Given the description of an element on the screen output the (x, y) to click on. 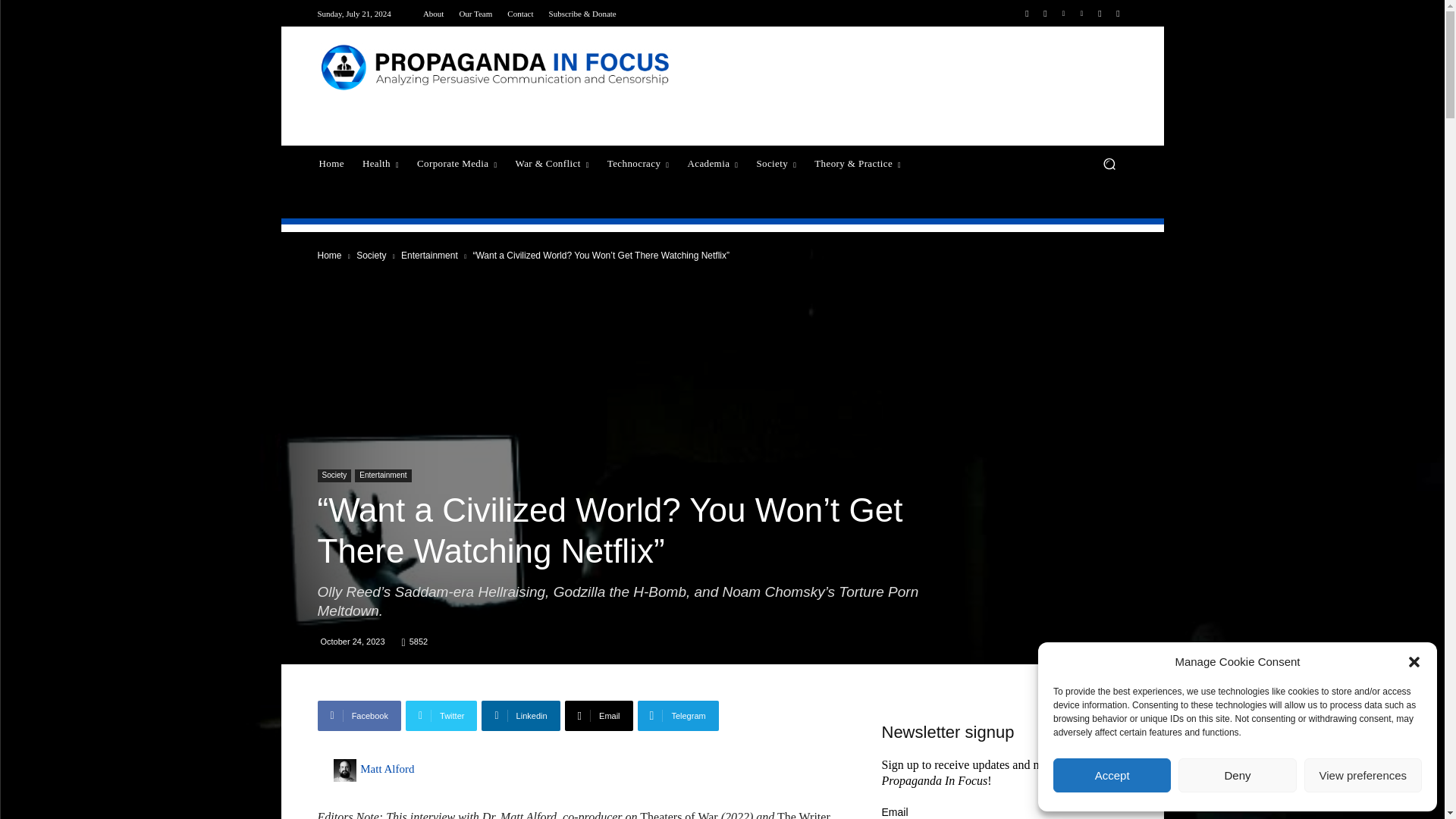
Linkedin (1062, 13)
Deny (1236, 775)
Twitter (1117, 13)
Facebook (1026, 13)
Accept (1111, 775)
View preferences (1363, 775)
Telegram (1099, 13)
Instagram (1044, 13)
Pinterest (1080, 13)
